Given the description of an element on the screen output the (x, y) to click on. 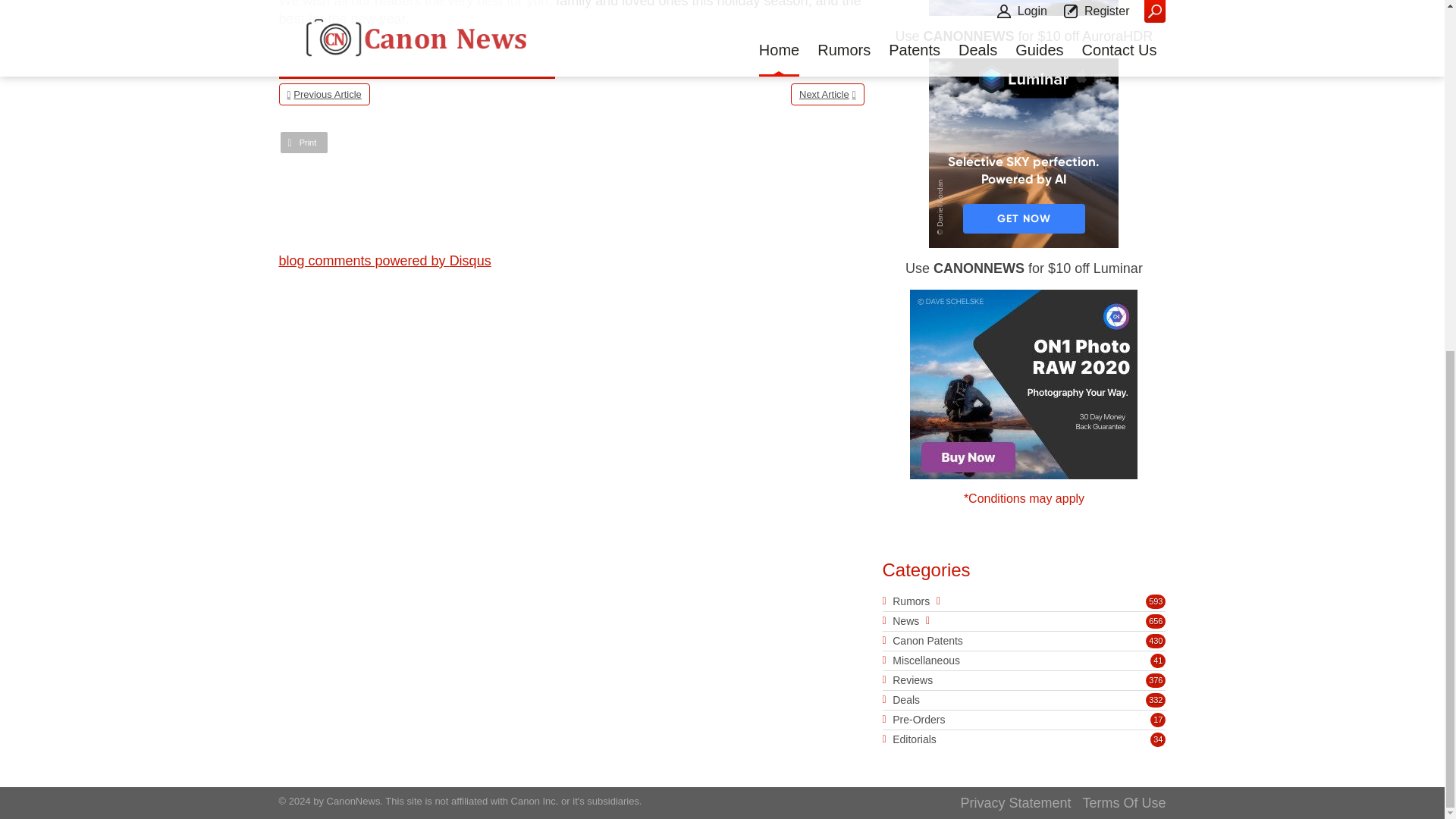
Rumors (911, 601)
593 (1155, 601)
Rumors (911, 601)
Previous Article (324, 94)
593 (1155, 601)
Next Article (827, 94)
blog comments powered by Disqus (385, 260)
